Given the description of an element on the screen output the (x, y) to click on. 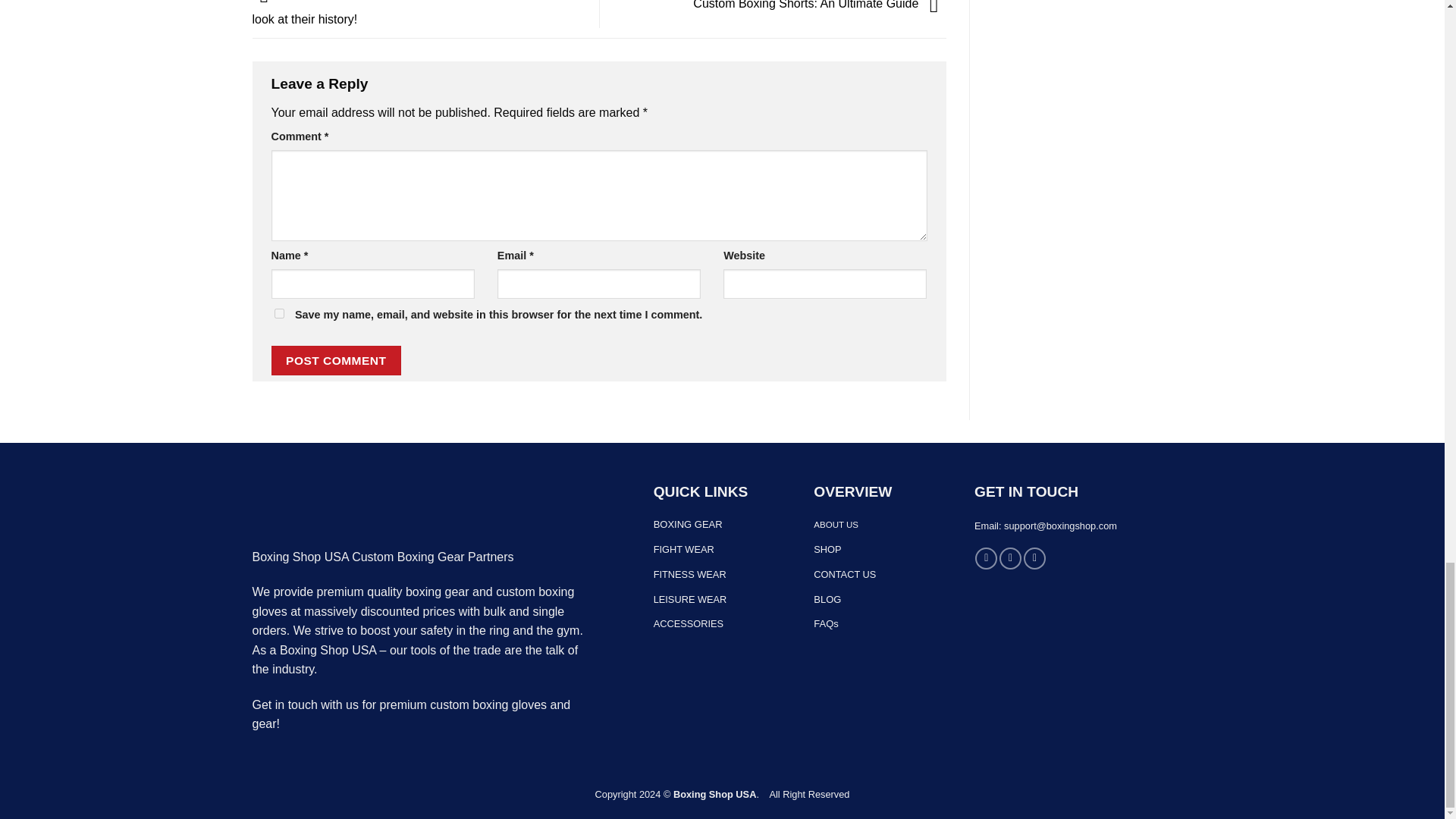
Post Comment (335, 360)
Follow on Twitter (1034, 558)
Follow on Instagram (1010, 558)
yes (279, 313)
Follow on Facebook (986, 558)
